Given the description of an element on the screen output the (x, y) to click on. 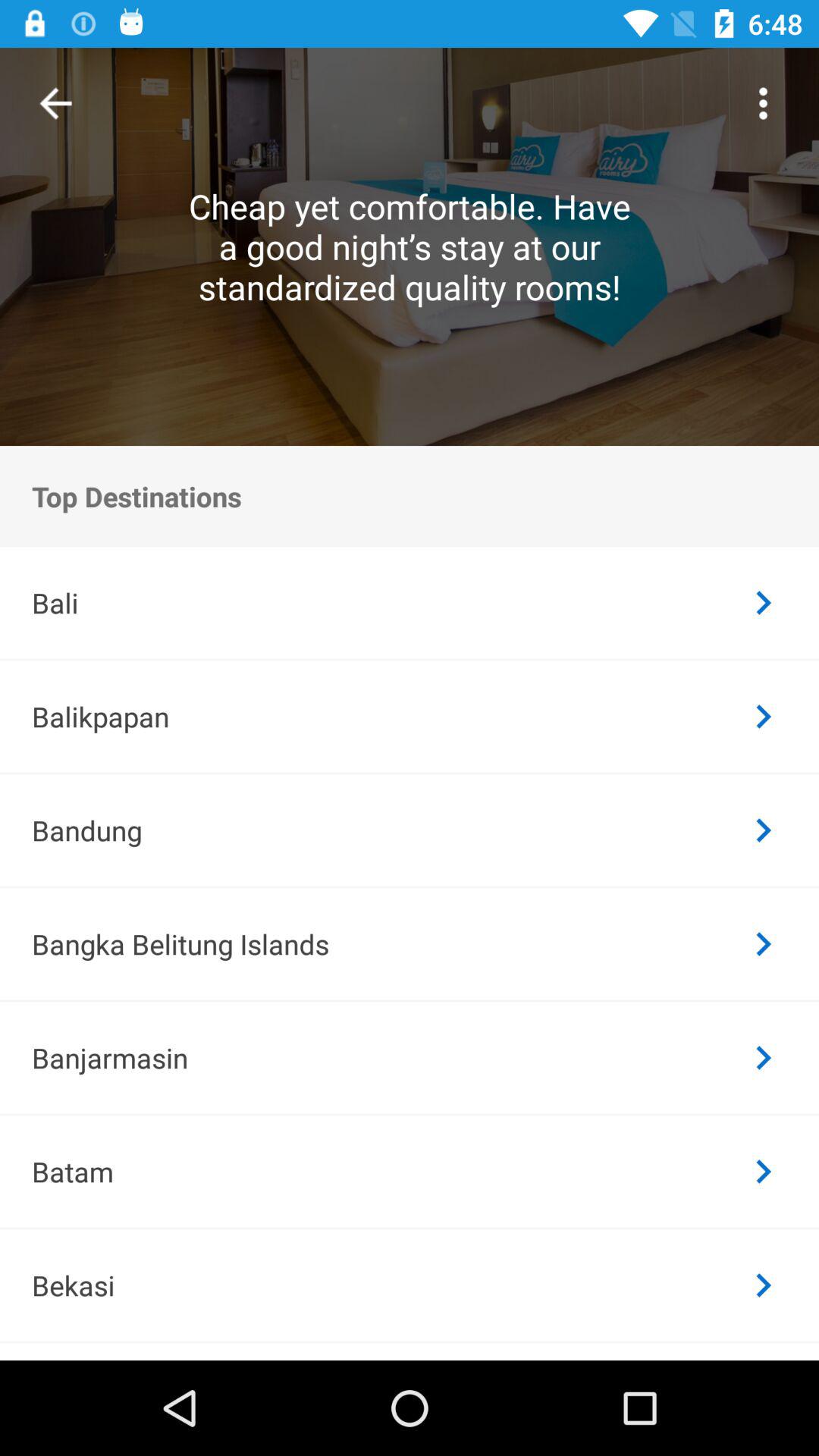
menu (763, 103)
